Given the description of an element on the screen output the (x, y) to click on. 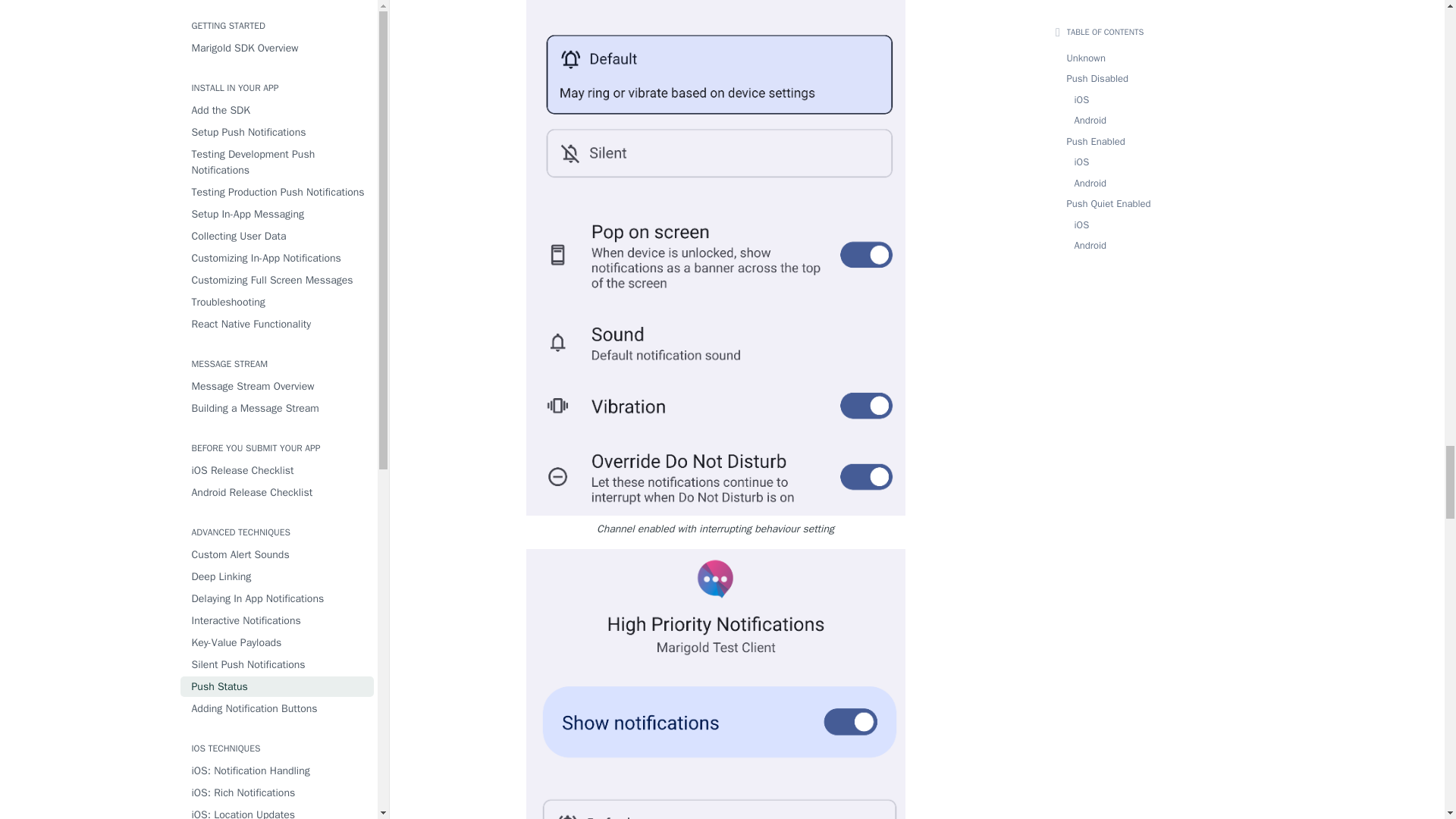
Screen Shot 2019-01-08 at 11.11.26 AM.png (715, 683)
